Given the description of an element on the screen output the (x, y) to click on. 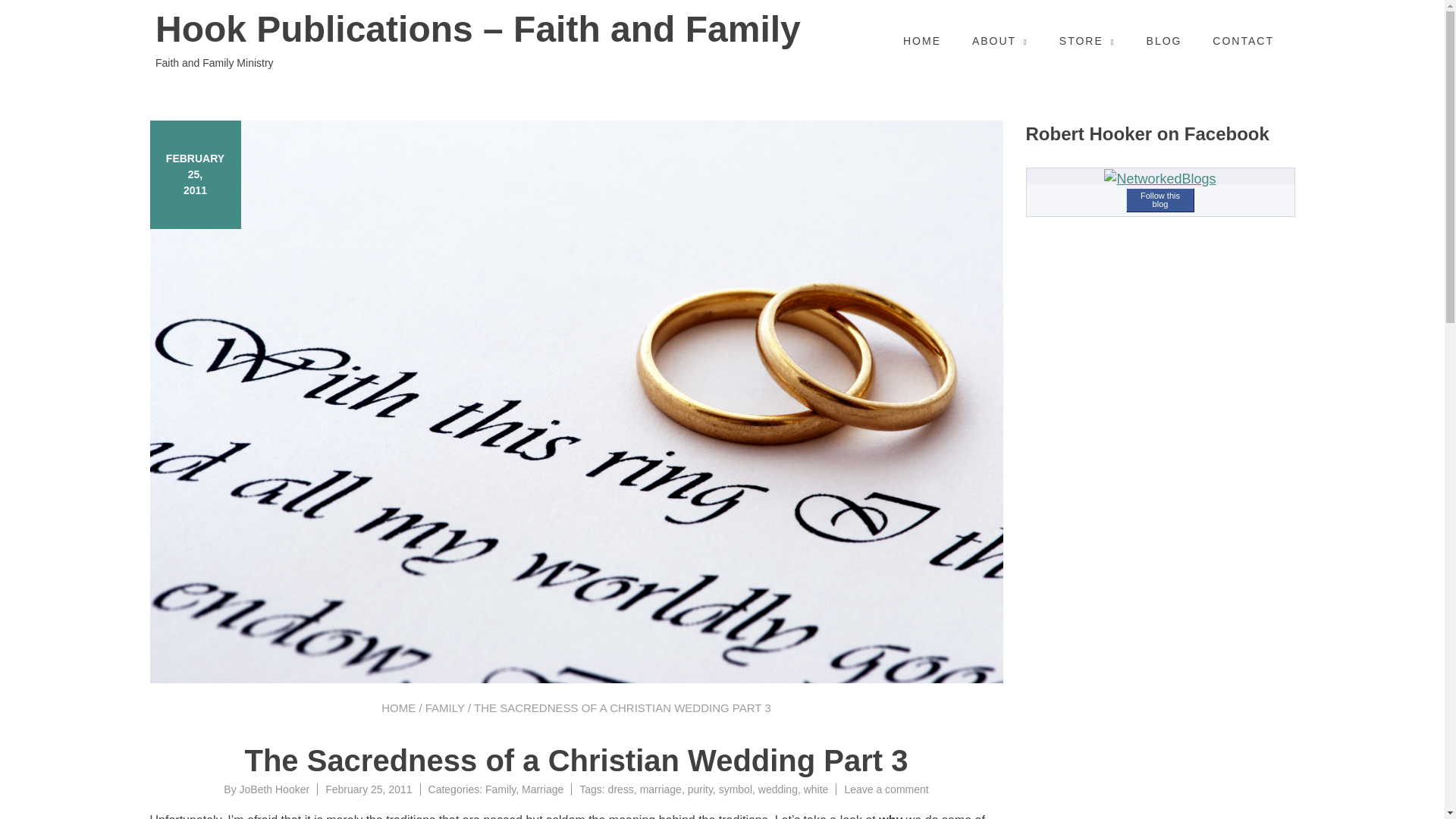
HOME (921, 41)
NetworkedBlogs (1159, 178)
NetworkedBlogs (1159, 178)
ABOUT (999, 41)
